Given the description of an element on the screen output the (x, y) to click on. 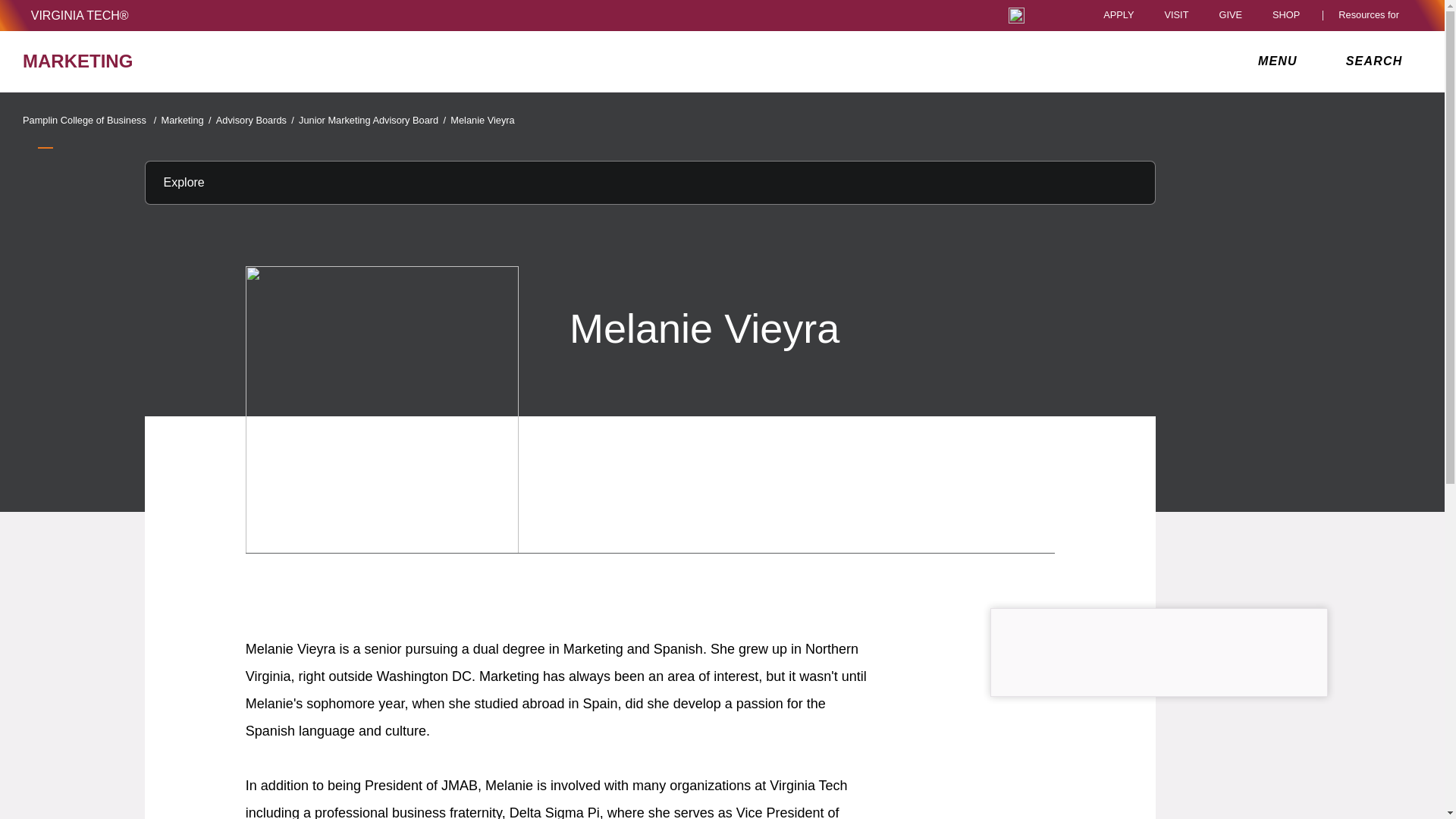
SHOP (1289, 15)
Pamplin College of Business (90, 120)
MENU (1280, 61)
Universal Access Toggle (1017, 15)
APPLY (1118, 15)
GIVE (1229, 15)
MARKETING (250, 60)
Resources for (1372, 15)
VISIT (1175, 15)
